Given the description of an element on the screen output the (x, y) to click on. 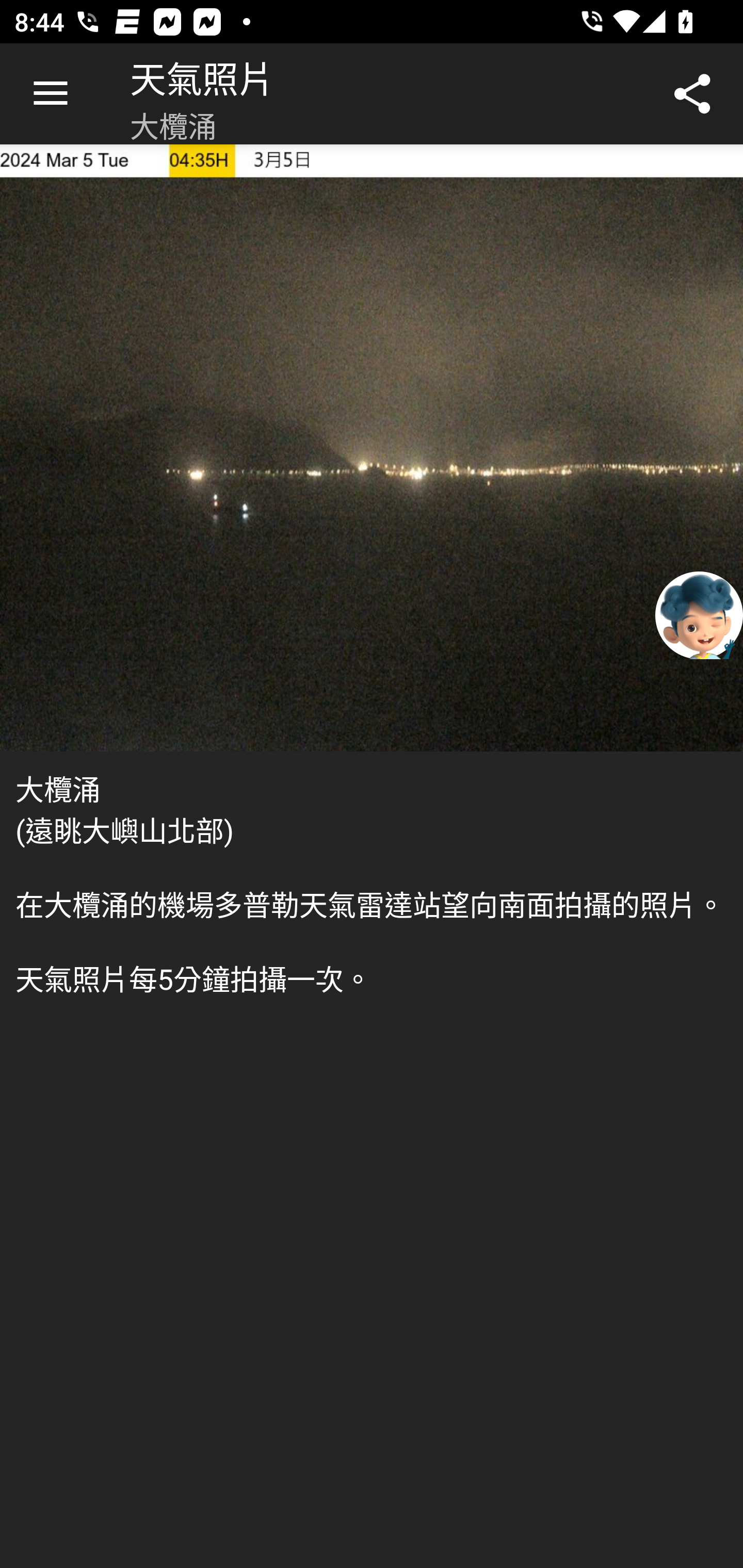
向上瀏覽 (50, 93)
分享 (692, 93)
聊天機械人 (699, 614)
